Given the description of an element on the screen output the (x, y) to click on. 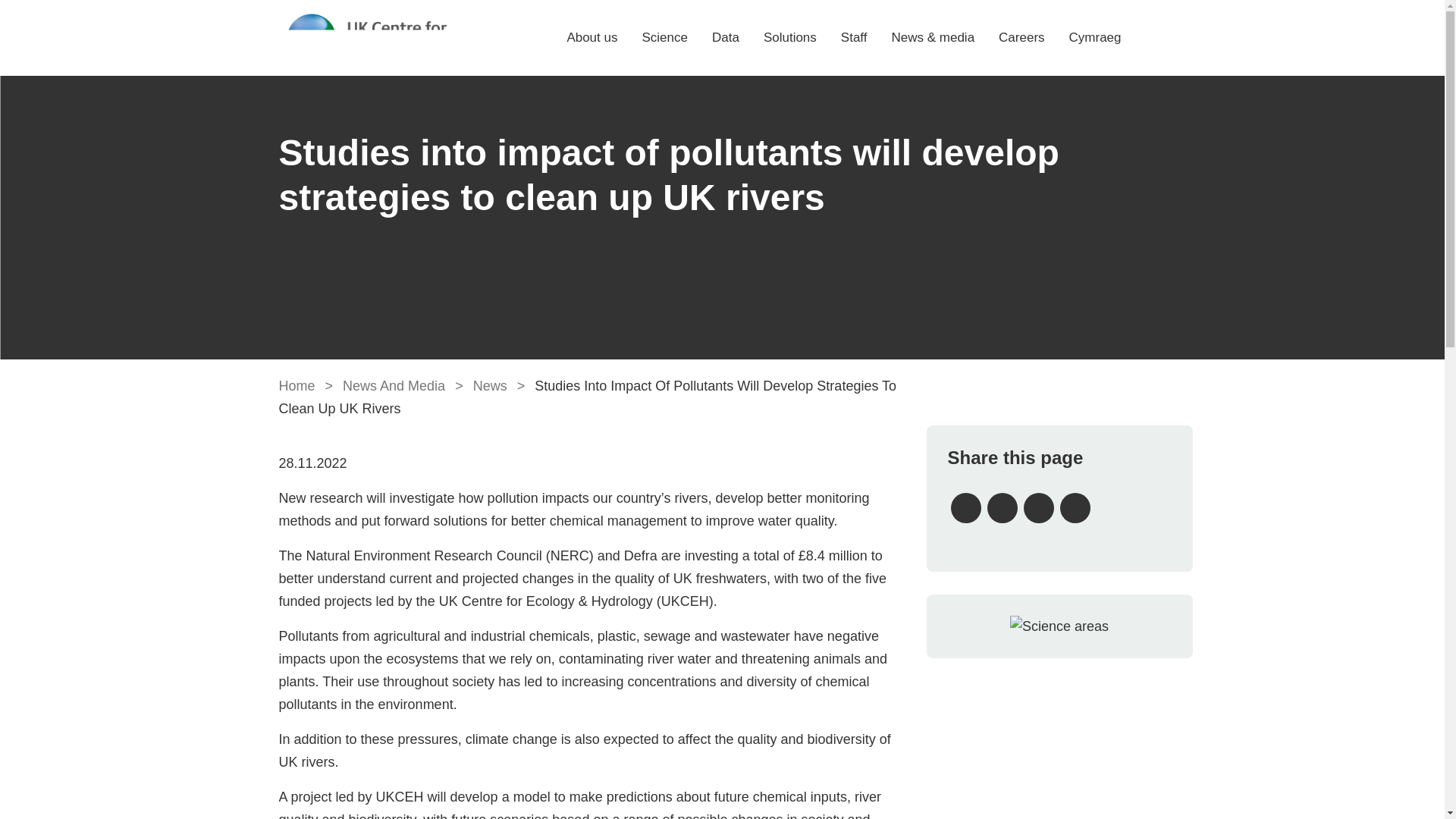
About us (591, 37)
Solutions (789, 37)
Science (664, 37)
Data (725, 37)
Science (664, 37)
Skip to main content (721, 1)
About us (591, 37)
